Given the description of an element on the screen output the (x, y) to click on. 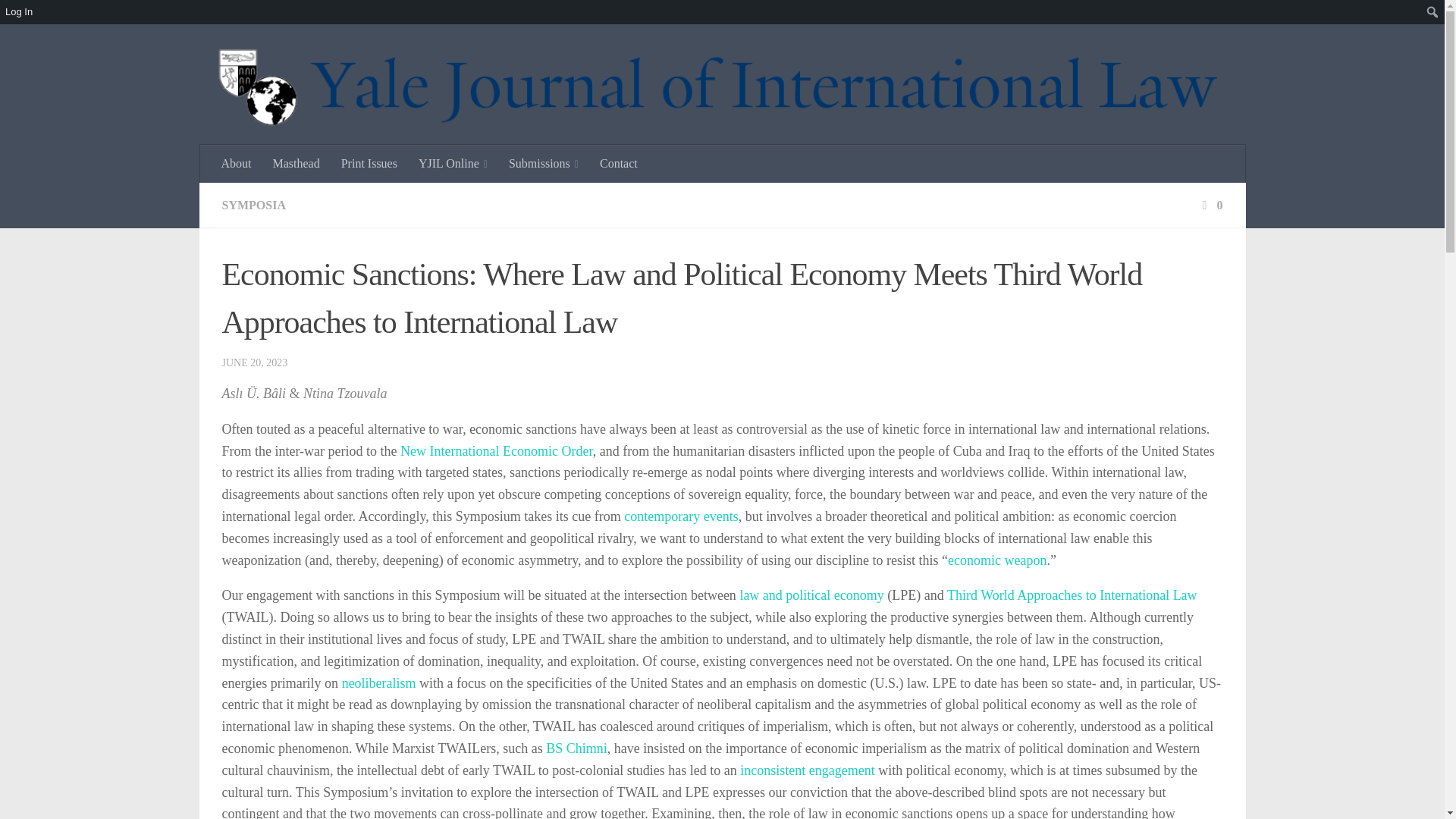
economic weapon (996, 560)
Skip to content (59, 20)
contemporary events (681, 516)
About (236, 163)
Masthead (296, 163)
Contact (618, 163)
Third World Approaches to International Law (1071, 595)
BS Chimni (576, 748)
Search (15, 12)
law and political economy (811, 595)
Submissions (543, 163)
Print Issues (368, 163)
neoliberalism (379, 683)
YJIL Online (452, 163)
New International Economic Order (496, 450)
